Given the description of an element on the screen output the (x, y) to click on. 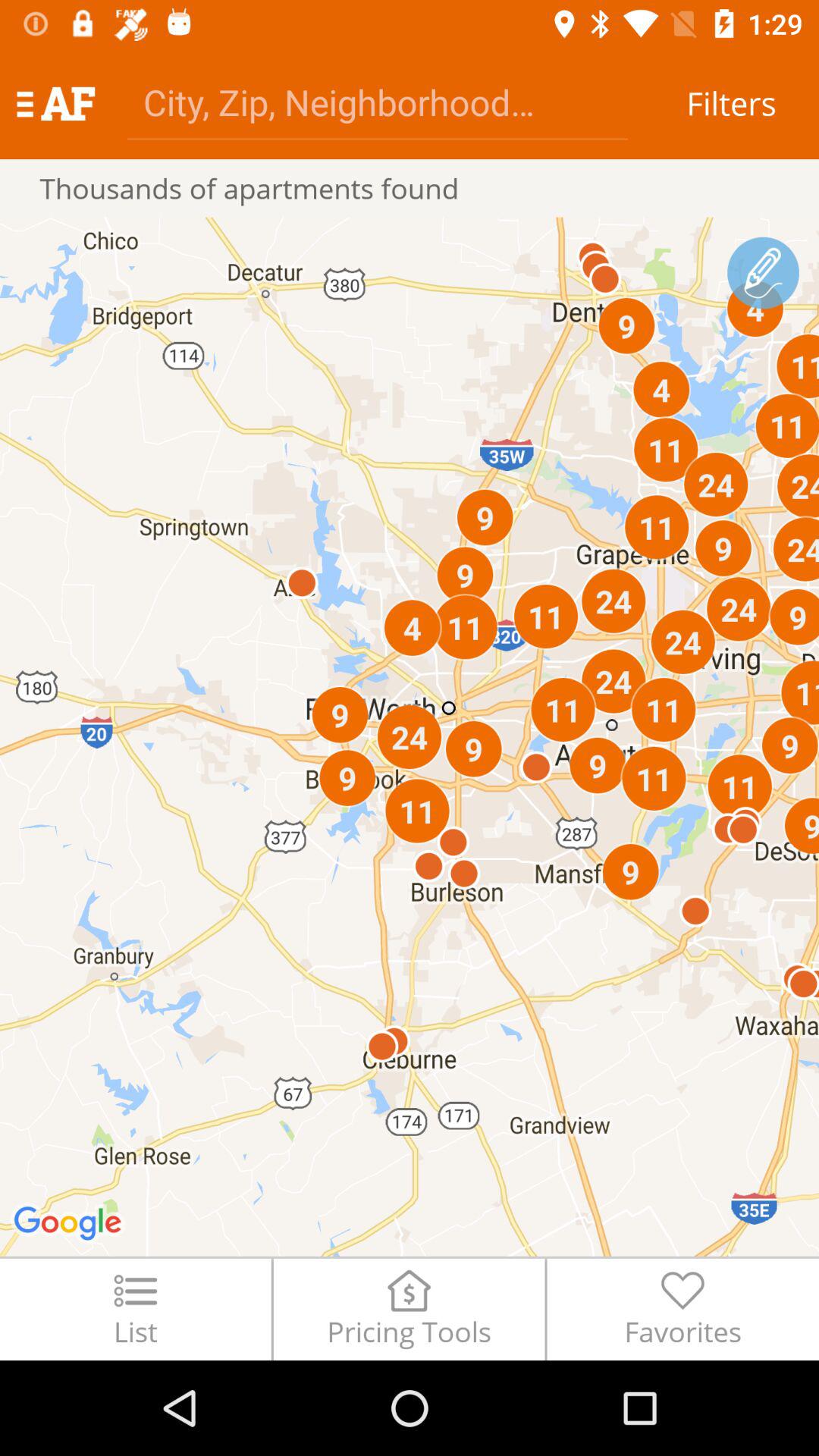
open icon above the thousands of apartments item (377, 102)
